Given the description of an element on the screen output the (x, y) to click on. 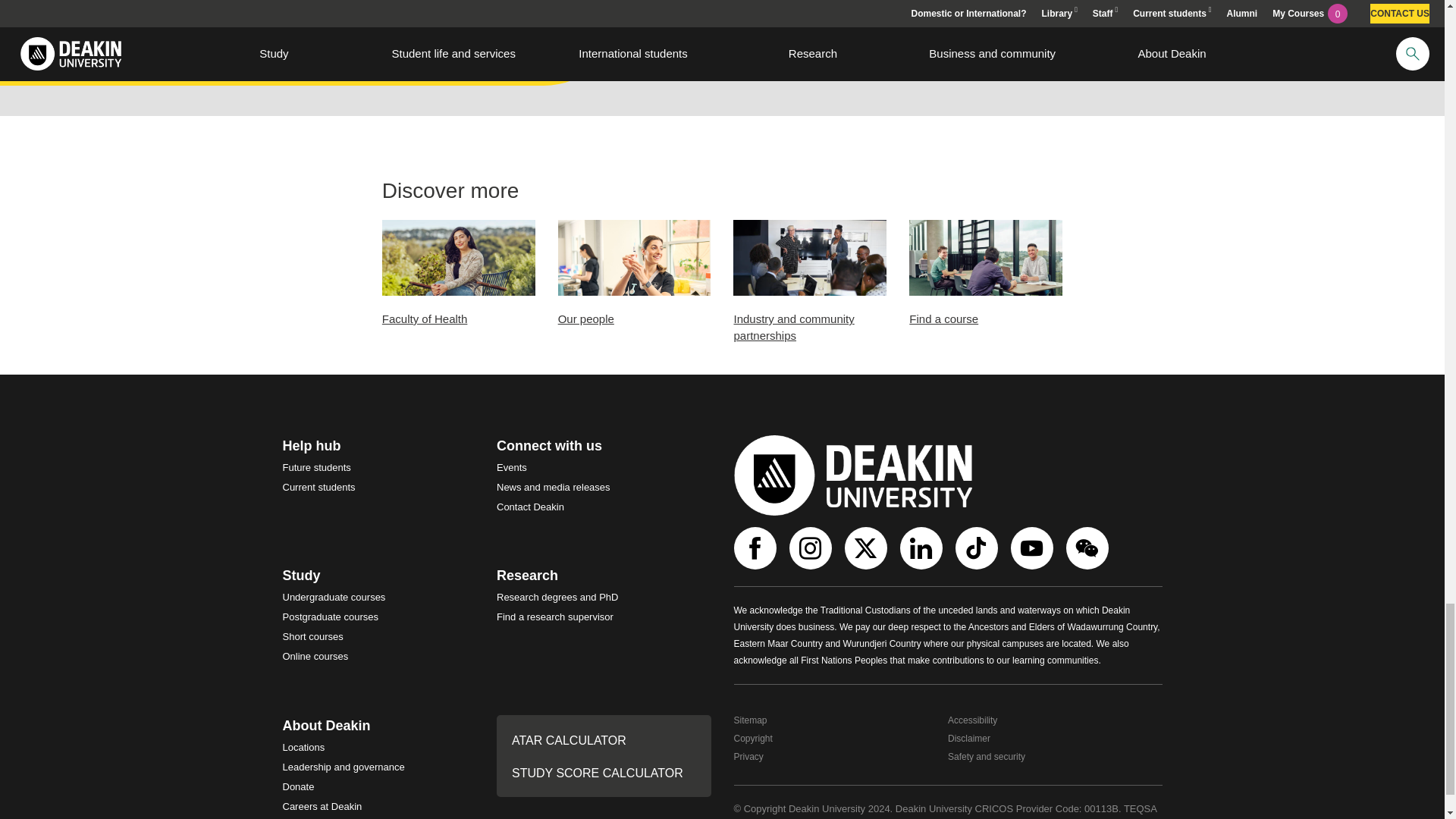
Instagram (811, 548)
Twitter (867, 548)
Facebook (756, 548)
Linkedin (921, 548)
Youtube (1033, 548)
TikTok (978, 548)
